Given the description of an element on the screen output the (x, y) to click on. 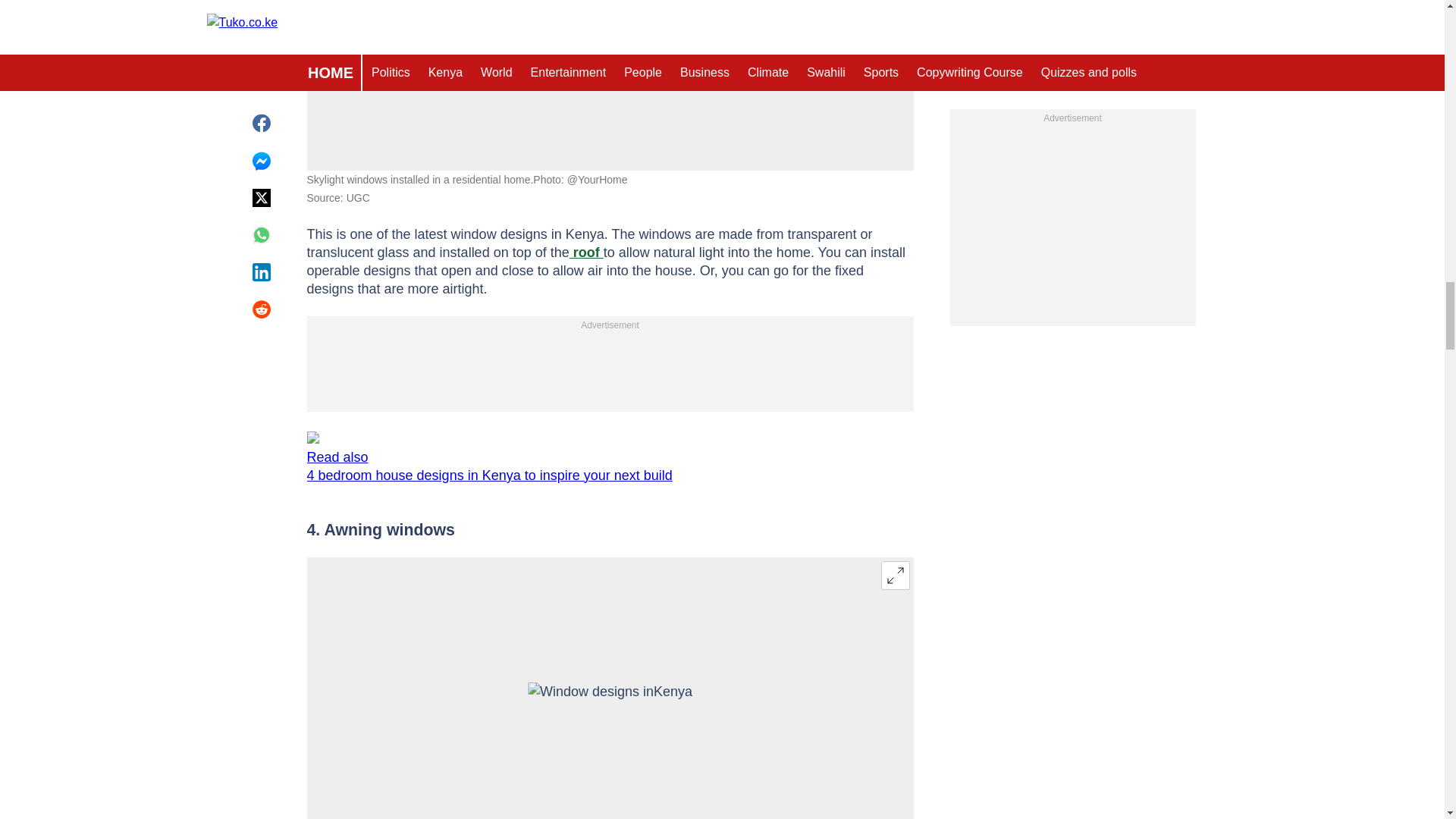
Window designs in Kenya (609, 33)
Expand image (895, 575)
Window designs inKenya (610, 727)
